Given the description of an element on the screen output the (x, y) to click on. 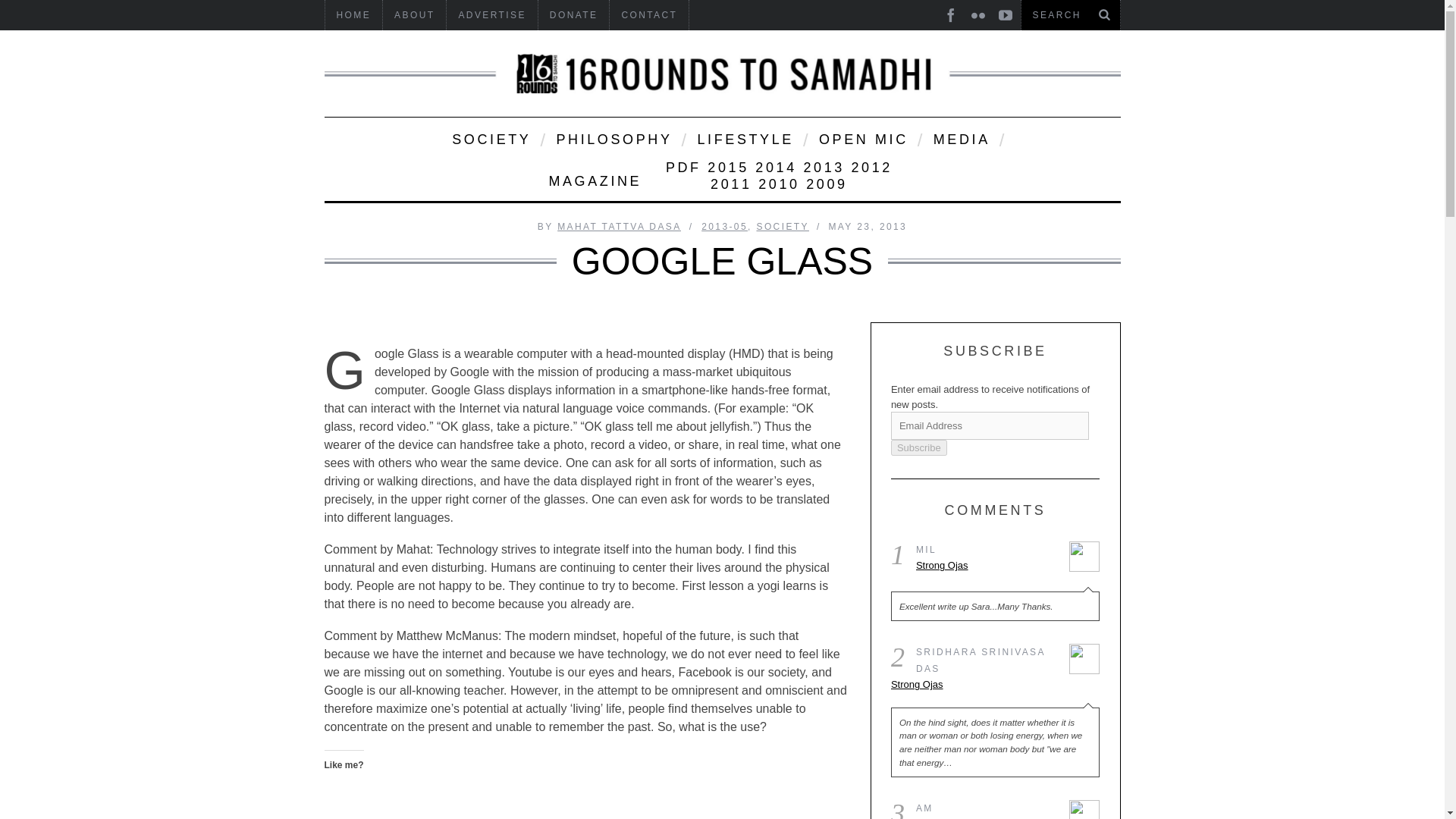
ABOUT (413, 14)
SOCIETY (490, 137)
Search (1070, 15)
CONTACT (649, 14)
ADVERTISE (491, 14)
LIFESTYLE (743, 137)
HOME (352, 14)
16 ROUNDS to Samadhi magazine -  (722, 73)
OPEN MIC (862, 137)
DONATE (574, 14)
PHILOSOPHY (612, 137)
